Given the description of an element on the screen output the (x, y) to click on. 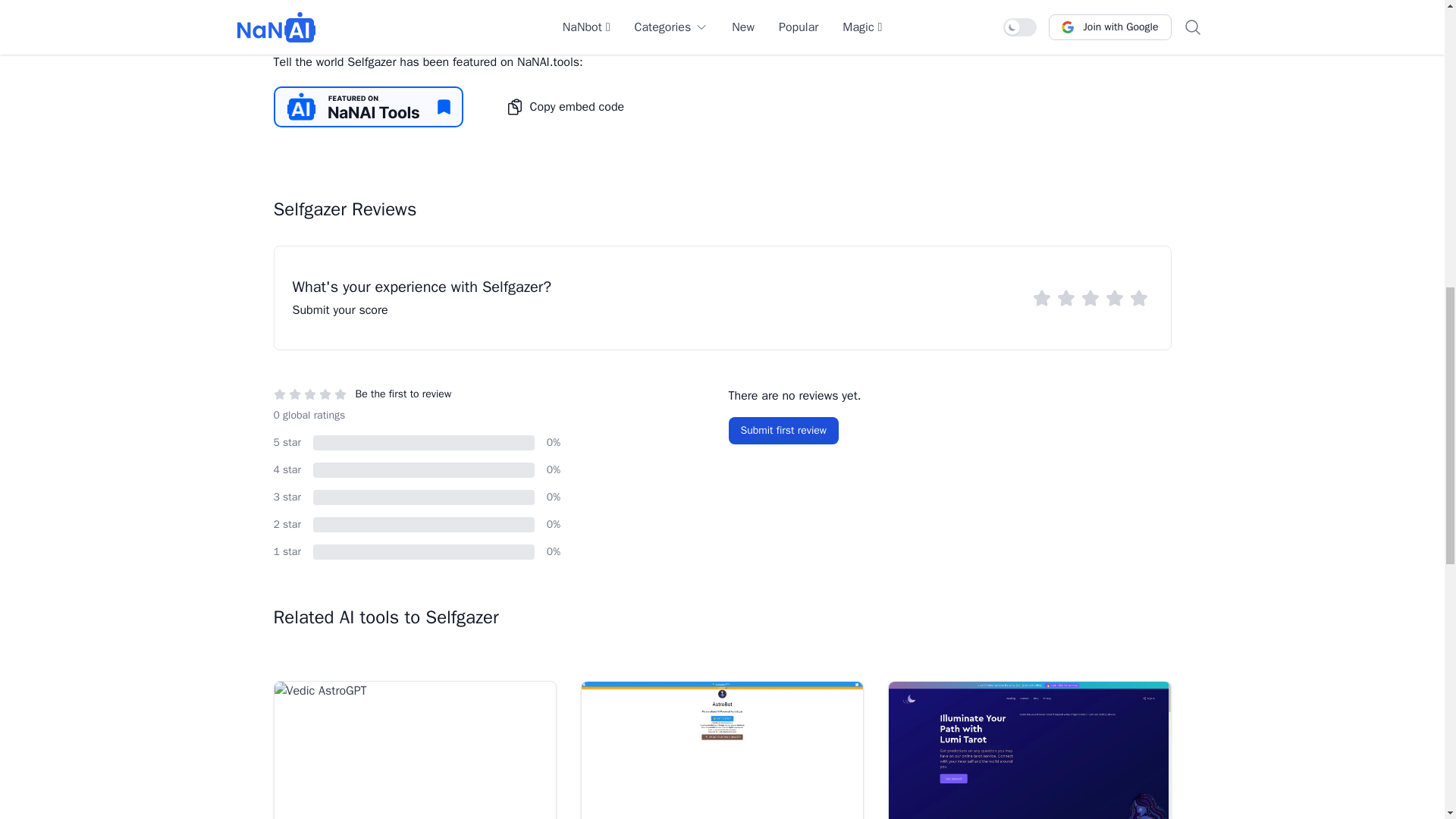
Copy embed code (564, 106)
